Given the description of an element on the screen output the (x, y) to click on. 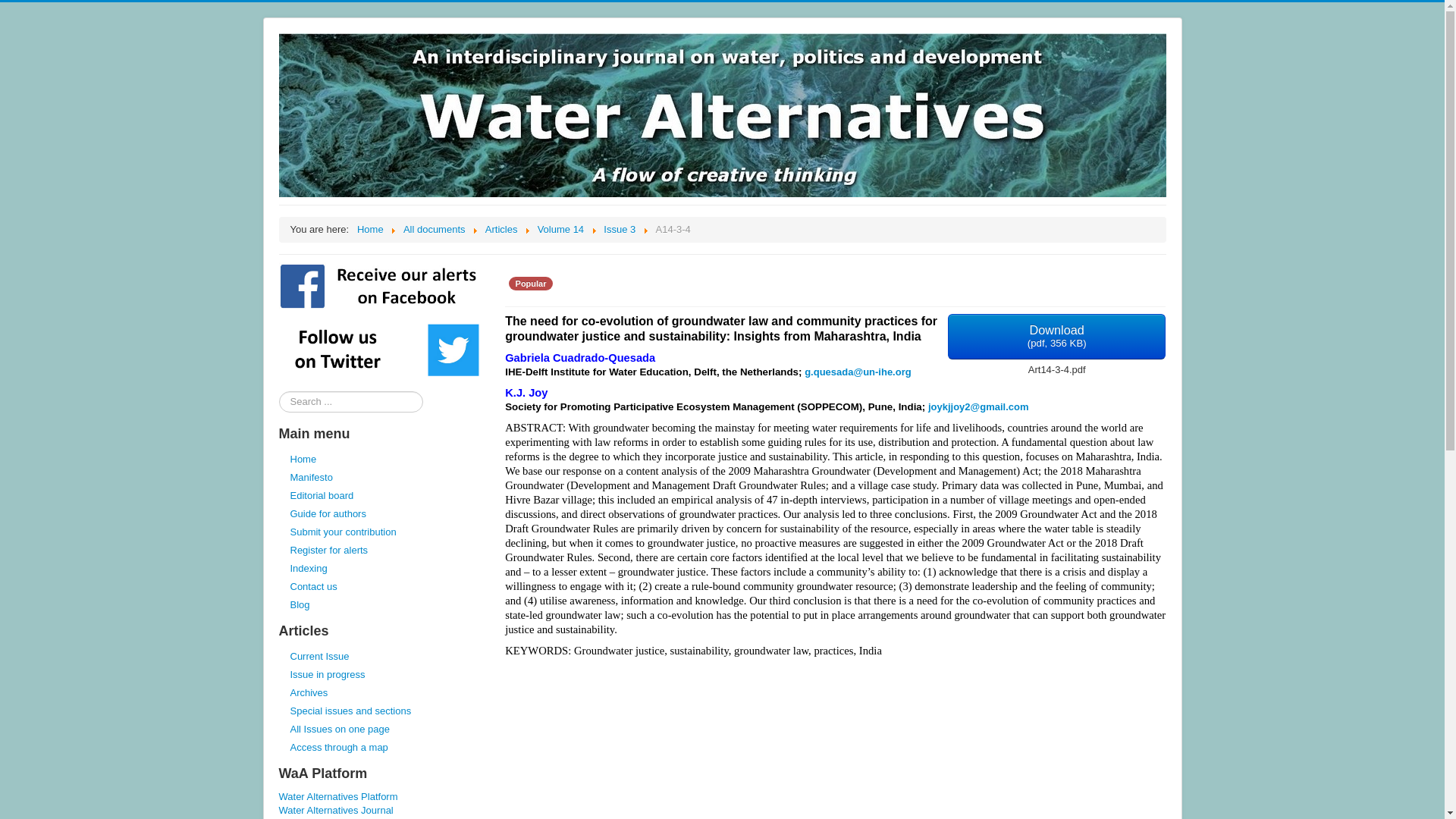
Water Alternatives Platform (382, 796)
Issue 3 (619, 229)
Indexing (382, 568)
All Issues on one page (382, 729)
Issue in progress (382, 674)
Gabriela Cuadrado-Quesada (580, 357)
Editorial board (382, 495)
Blog (382, 605)
Guide for authors (382, 514)
